Given the description of an element on the screen output the (x, y) to click on. 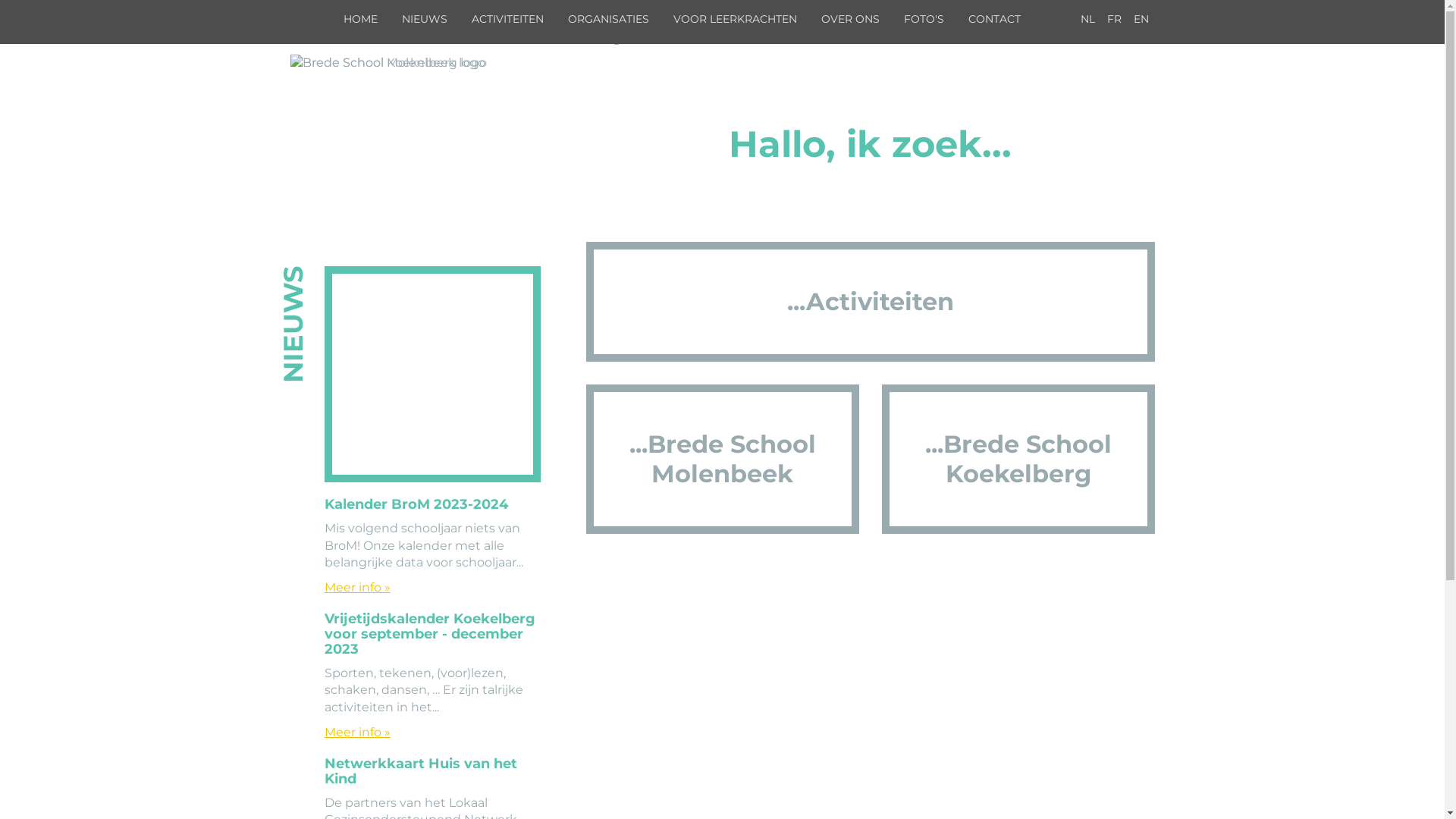
NL Element type: text (1086, 18)
NIEUWS Element type: text (424, 18)
VOOR LEERKRACHTEN Element type: text (735, 18)
FOTO'S Element type: text (923, 18)
ACTIVITEITEN Element type: text (507, 18)
FR Element type: text (1114, 18)
...Brede School
Koekelberg Element type: text (1017, 458)
OVER ONS Element type: text (850, 18)
...Brede School
Molenbeek Element type: text (721, 458)
HOME Element type: text (360, 18)
CONTACT Element type: text (994, 18)
...Activiteiten Element type: text (869, 301)
EN Element type: text (1140, 18)
ORGANISATIES Element type: text (608, 18)
